Given the description of an element on the screen output the (x, y) to click on. 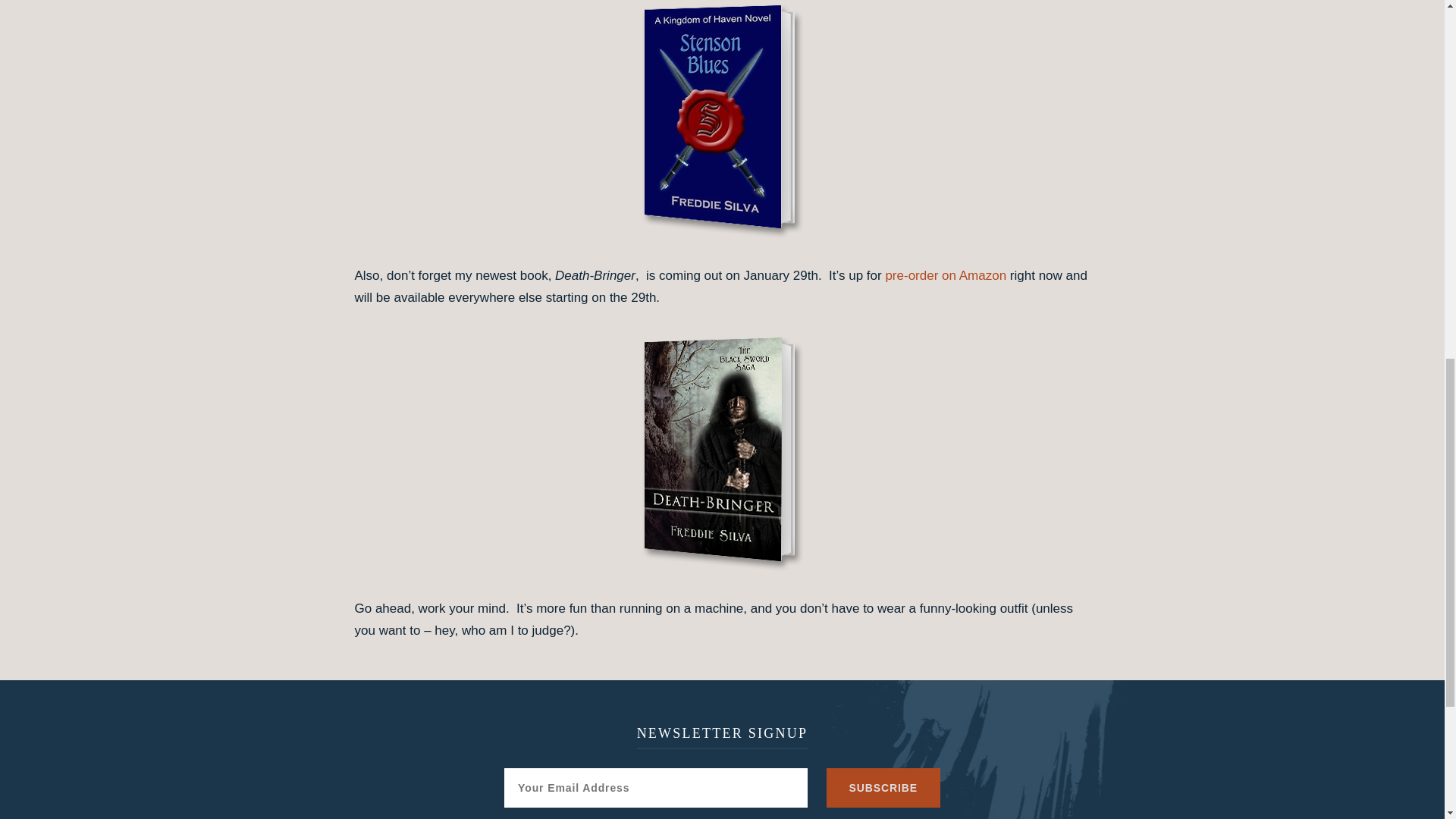
Subscribe (883, 787)
Subscribe (883, 787)
pre-order on Amazon (945, 275)
